Given the description of an element on the screen output the (x, y) to click on. 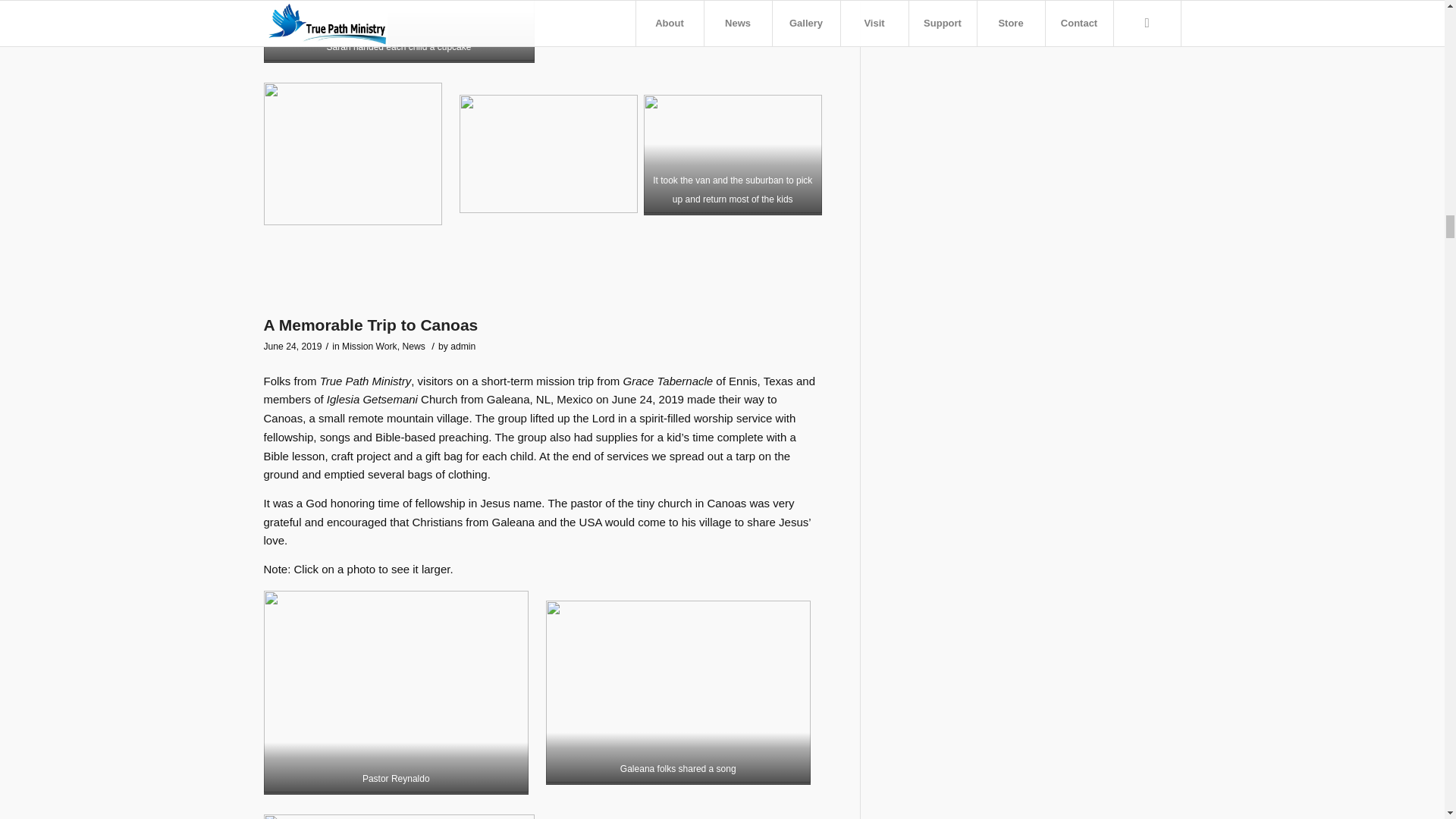
Posts by admin (462, 346)
Mission Work (369, 346)
Permanent Link: A Memorable Trip to Canoas (371, 324)
News (413, 346)
admin (462, 346)
A Memorable Trip to Canoas (371, 324)
